Given the description of an element on the screen output the (x, y) to click on. 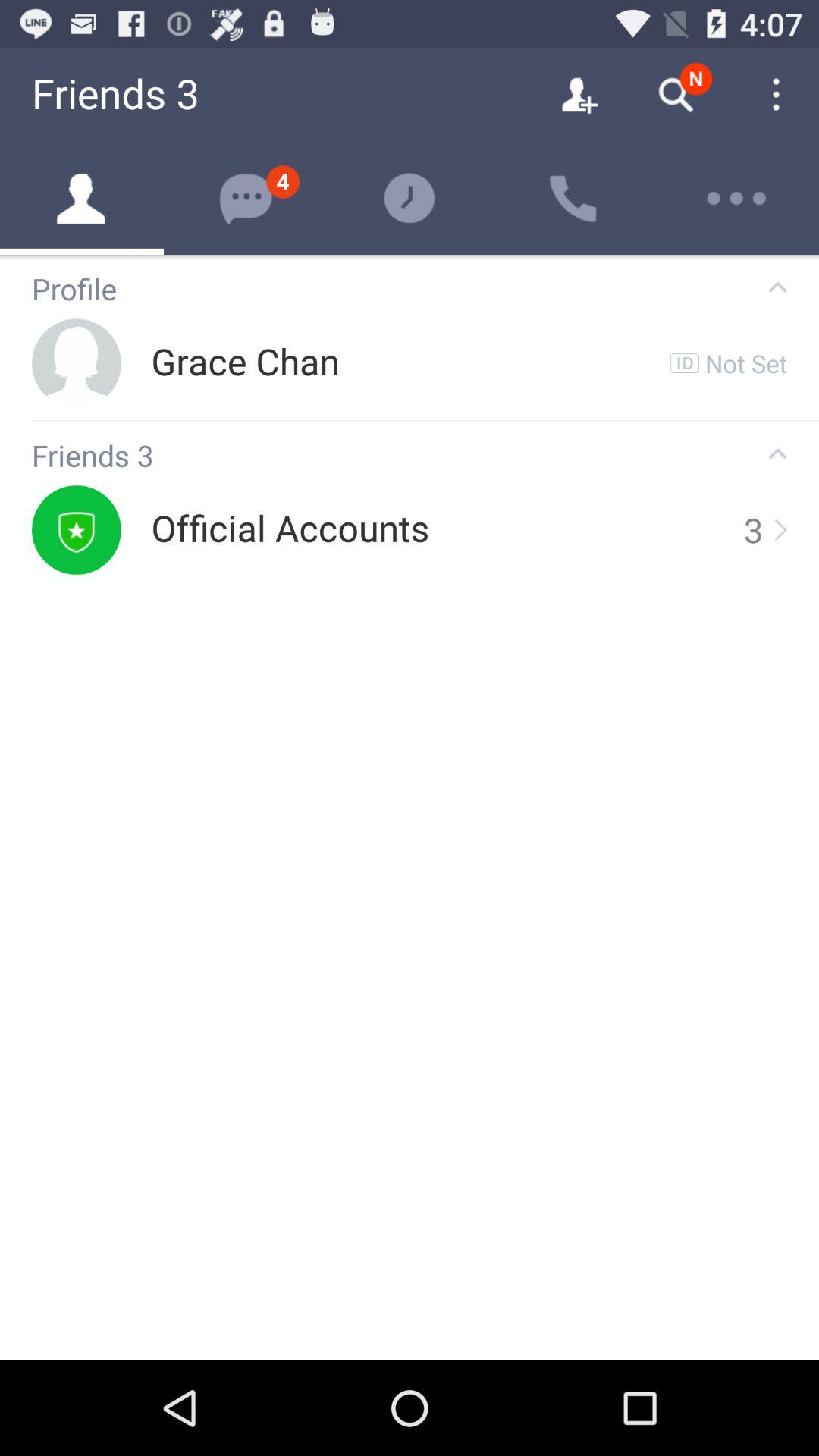
turn on app at the center (290, 529)
